Given the description of an element on the screen output the (x, y) to click on. 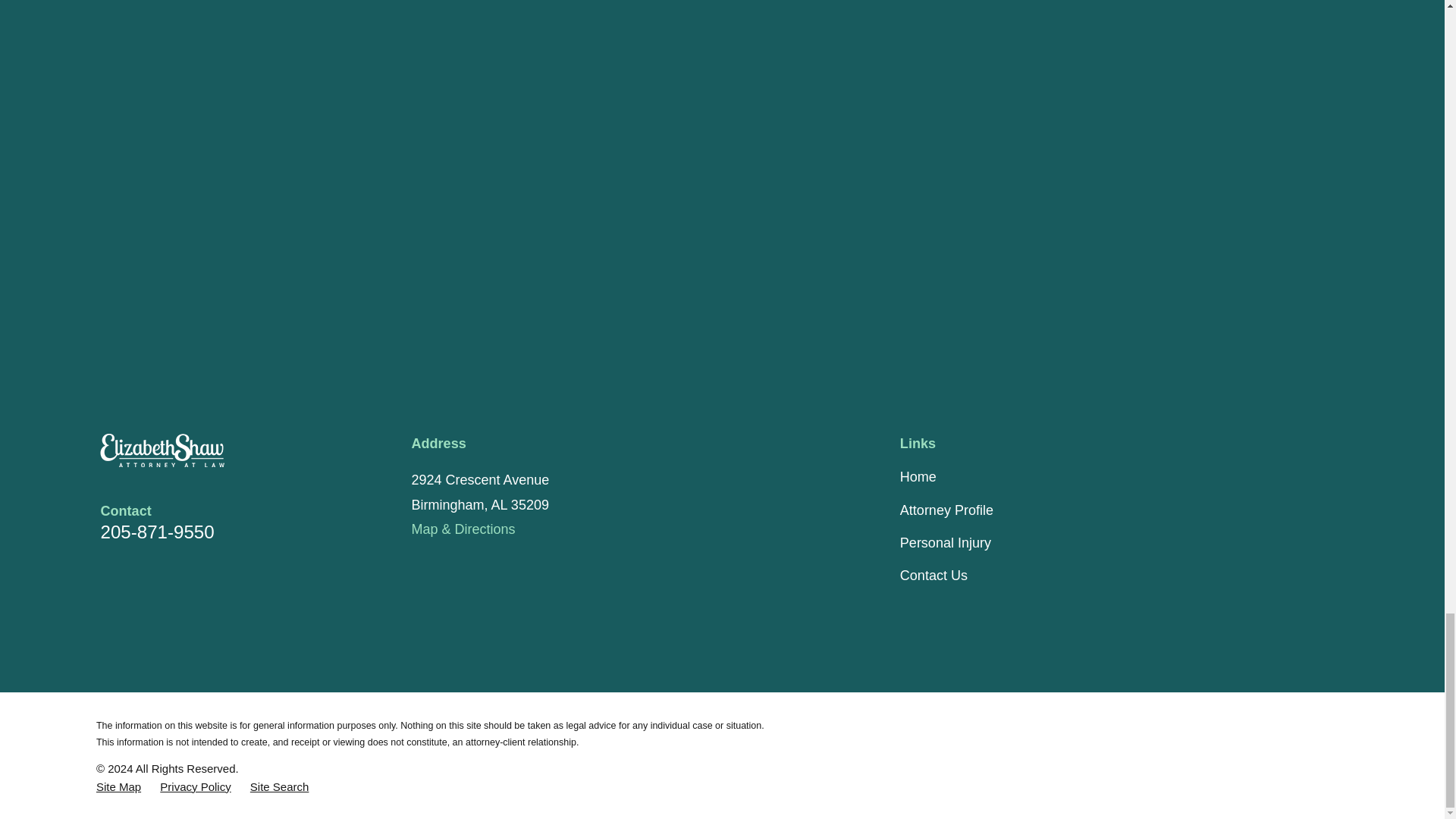
Elizabeth Shaw, Attorney At Law (162, 450)
Home (209, 450)
